Given the description of an element on the screen output the (x, y) to click on. 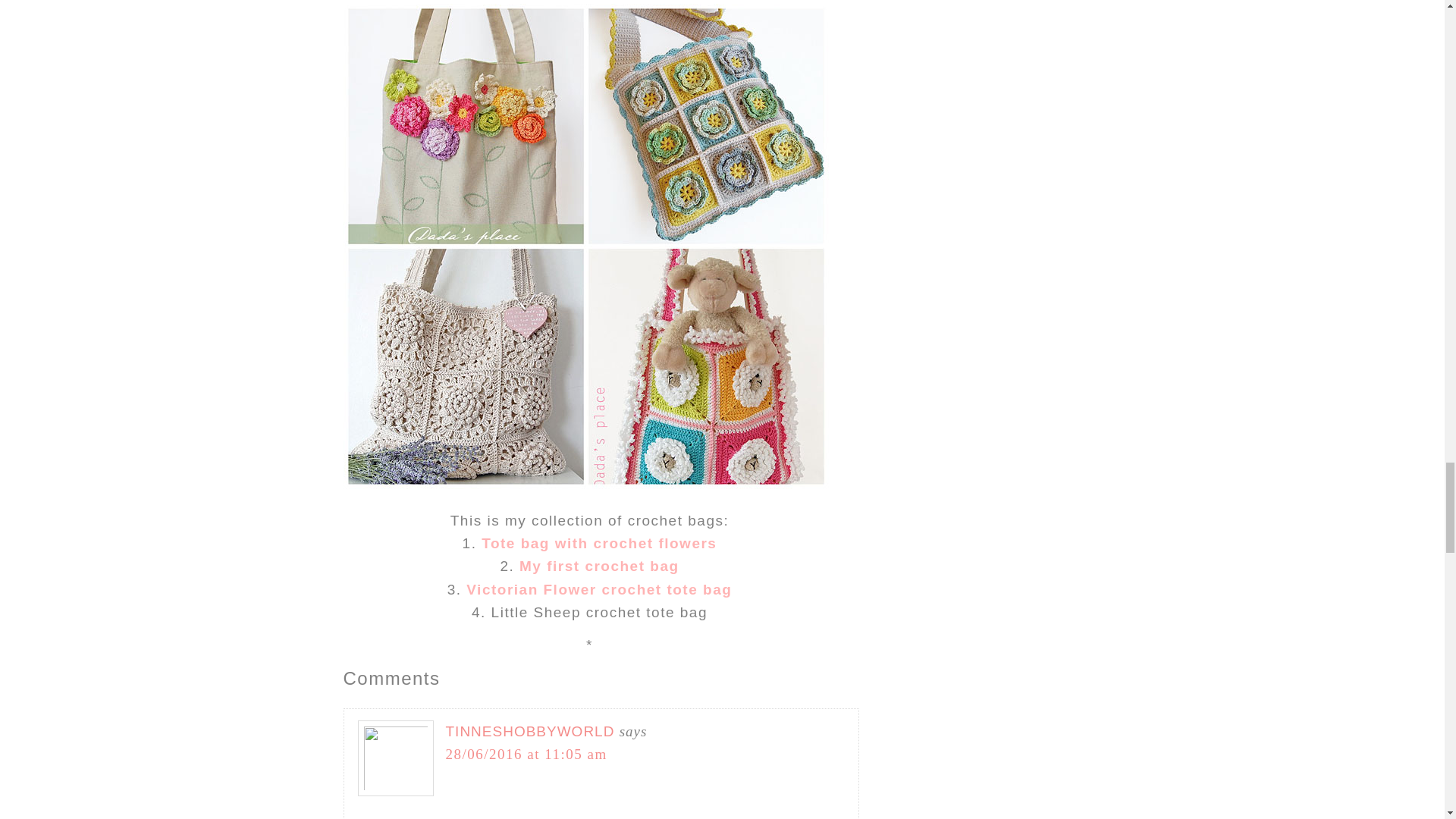
Victorian Flower crochet tote bag (598, 589)
TINNESHOBBYWORLD (529, 731)
My first crochet bag (599, 565)
Tote bag with crochet flowers (598, 543)
